Given the description of an element on the screen output the (x, y) to click on. 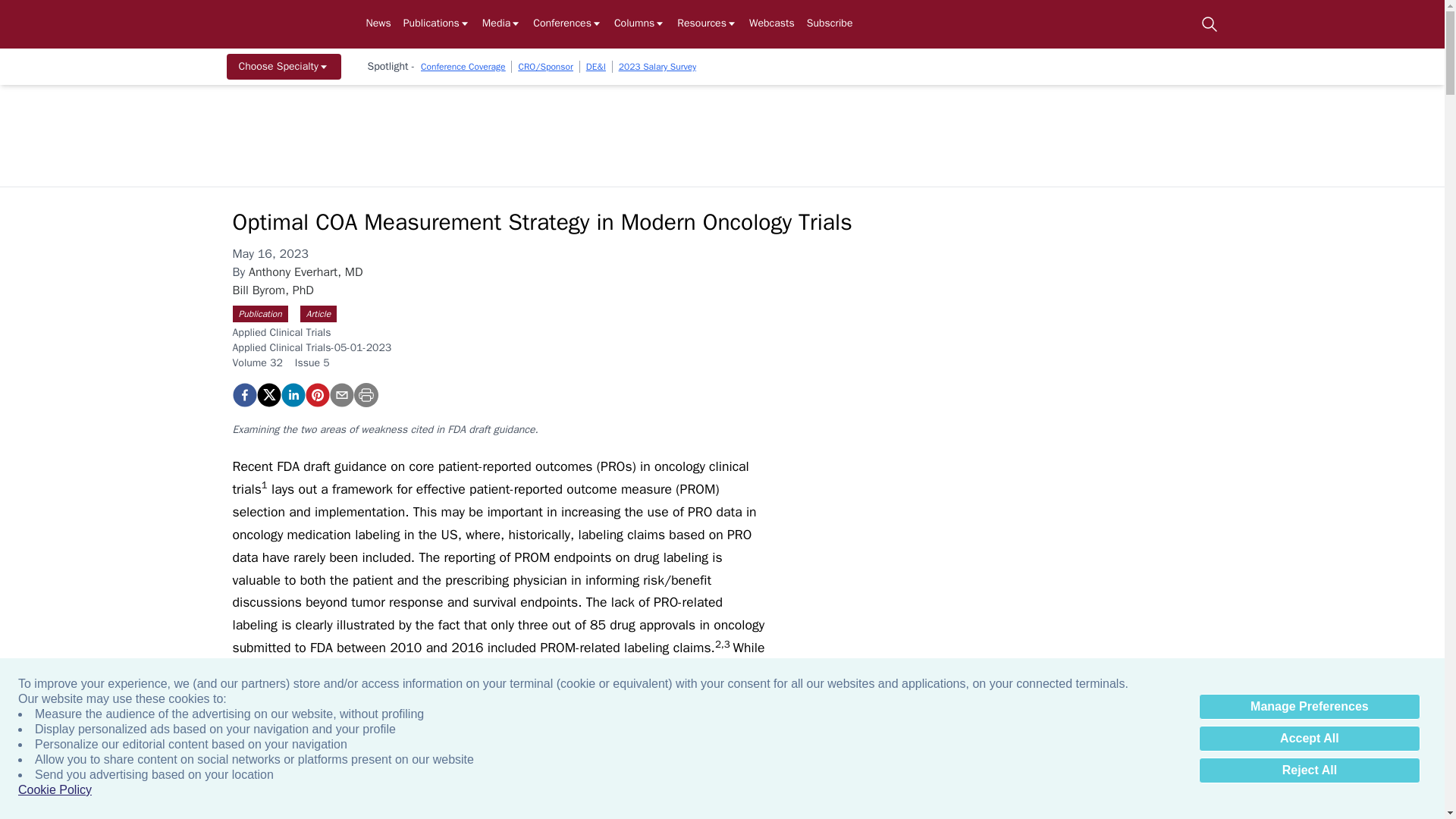
Manage Preferences (1309, 706)
Cookie Policy (54, 789)
News (377, 23)
Publications (436, 23)
Columns (639, 23)
Optimal COA Measurement Strategy in Modern Oncology Trials (316, 395)
Webcasts (771, 23)
Conferences (567, 23)
Optimal COA Measurement Strategy in Modern Oncology Trials (243, 395)
Subscribe (829, 23)
